Given the description of an element on the screen output the (x, y) to click on. 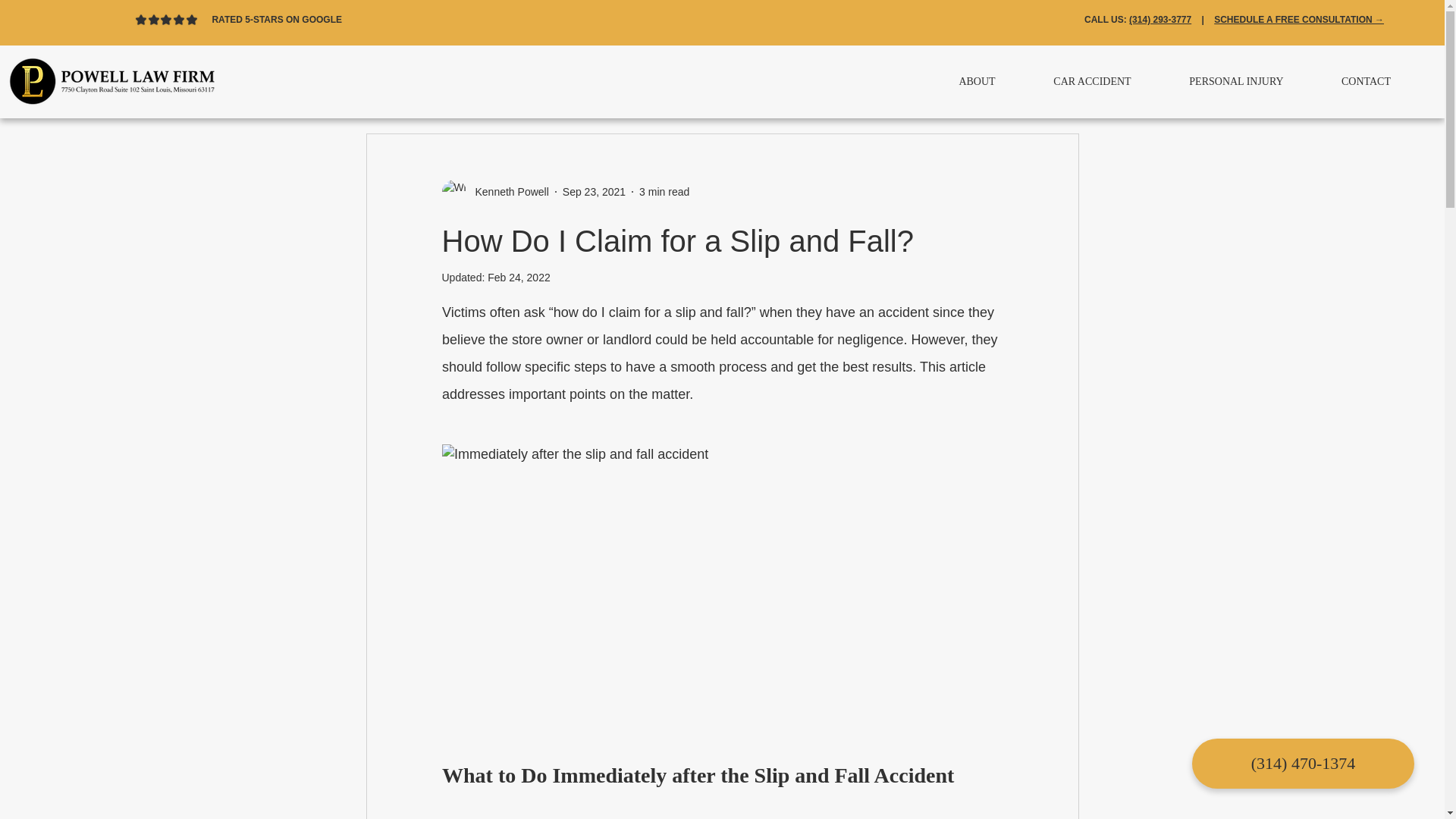
Sep 23, 2021 (594, 191)
CONTACT (1366, 81)
CAR ACCIDENT (1092, 81)
Feb 24, 2022 (518, 277)
3 min read (663, 191)
PERSONAL INJURY (1236, 81)
Kenneth Powell (506, 191)
